Given the description of an element on the screen output the (x, y) to click on. 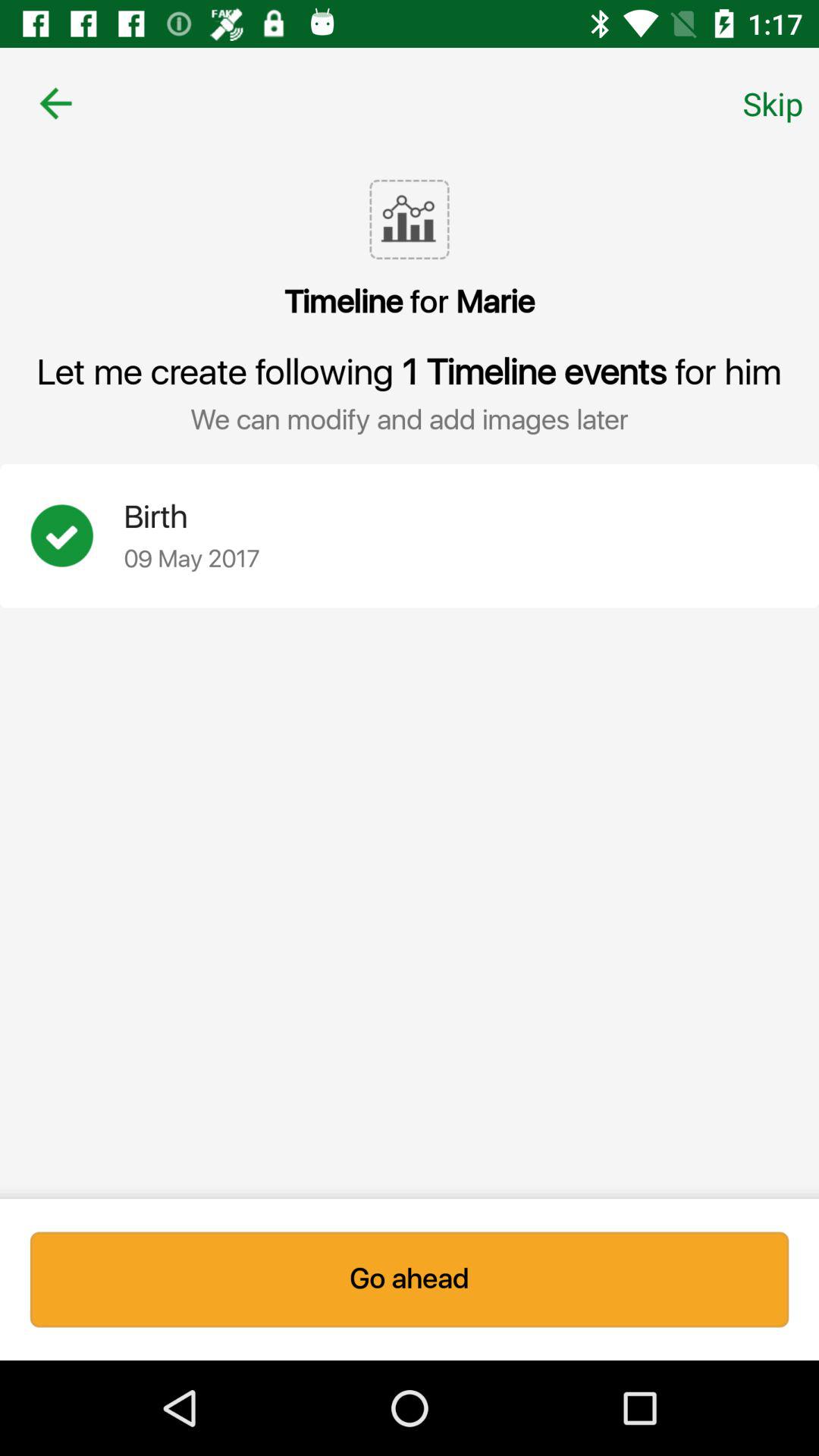
click go ahead item (409, 1279)
